Given the description of an element on the screen output the (x, y) to click on. 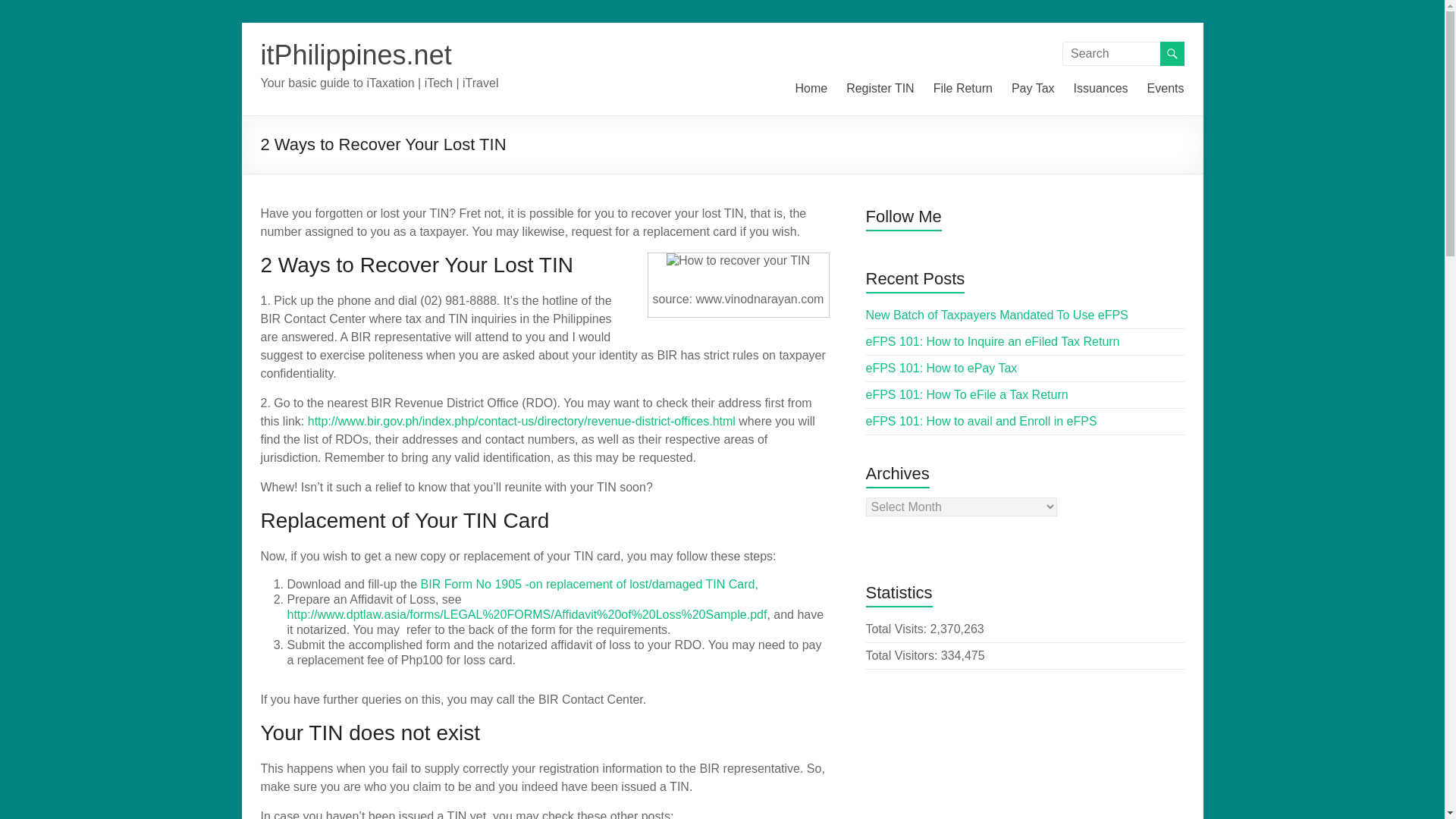
itPhilippines.net (355, 54)
Events (1166, 92)
itPhilippines.net (355, 54)
Pay Tax (1032, 92)
Register TIN (879, 92)
AFFIDAVIT OF LOSS OF IDENTIFICATION CARD (526, 614)
Home (810, 92)
Issuances (1101, 92)
File Return (962, 92)
